Given the description of an element on the screen output the (x, y) to click on. 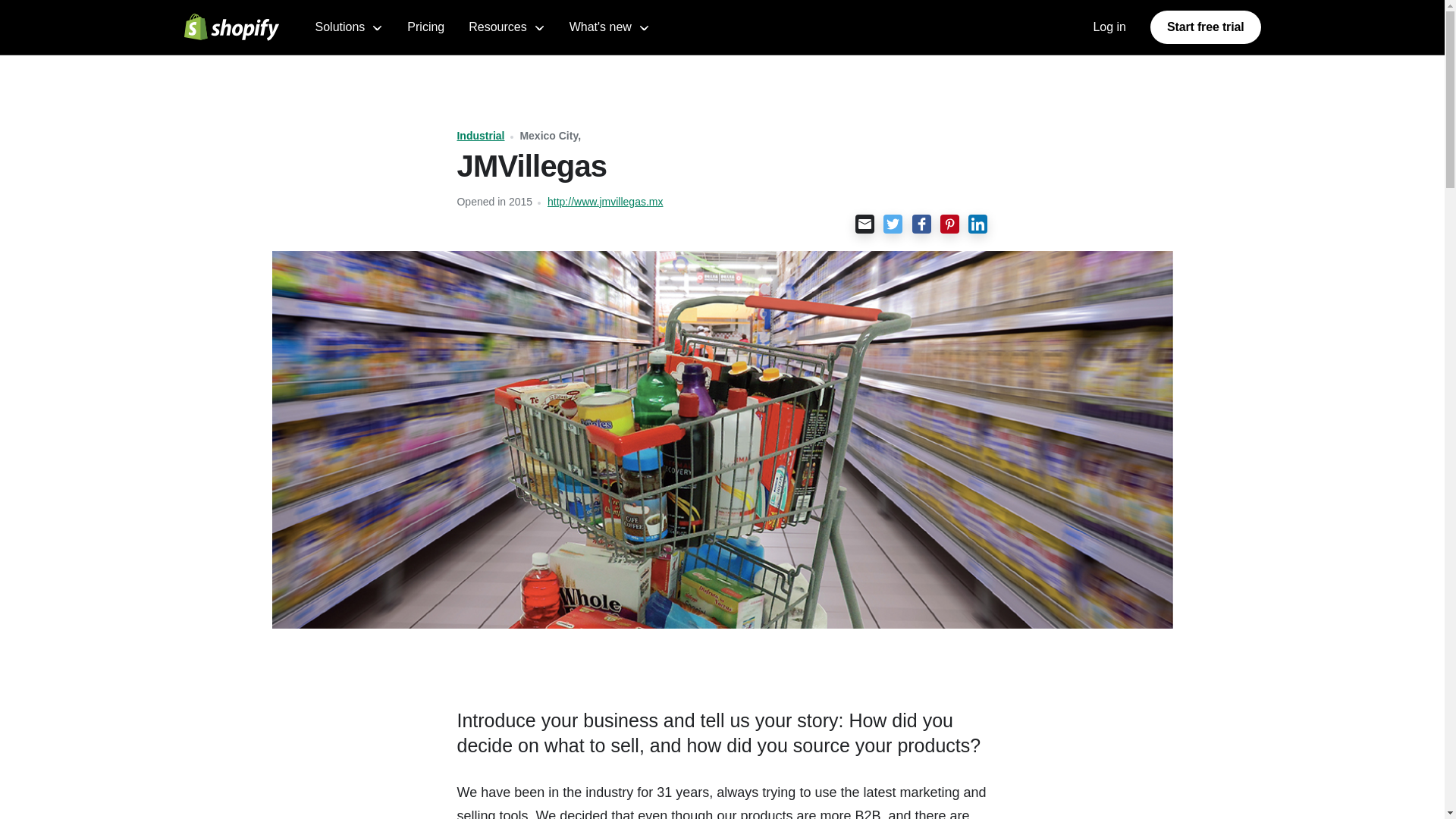
Solutions (349, 27)
Resources (506, 27)
